Given the description of an element on the screen output the (x, y) to click on. 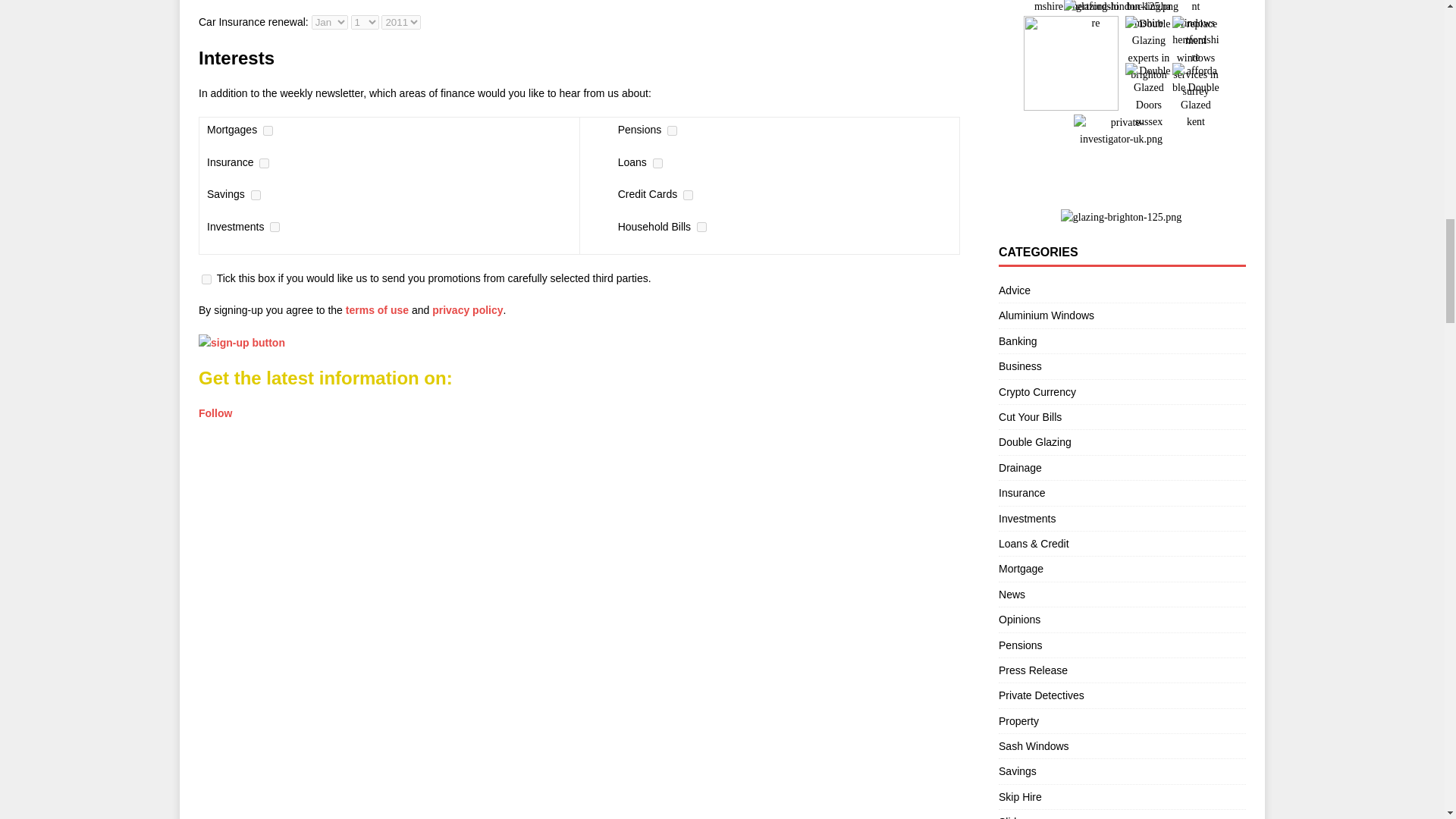
518080 (255, 194)
518081 (274, 226)
518083 (657, 163)
518082 (671, 130)
540834 (206, 279)
518079 (264, 163)
518084 (687, 194)
518078 (268, 130)
518085 (701, 226)
